Given the description of an element on the screen output the (x, y) to click on. 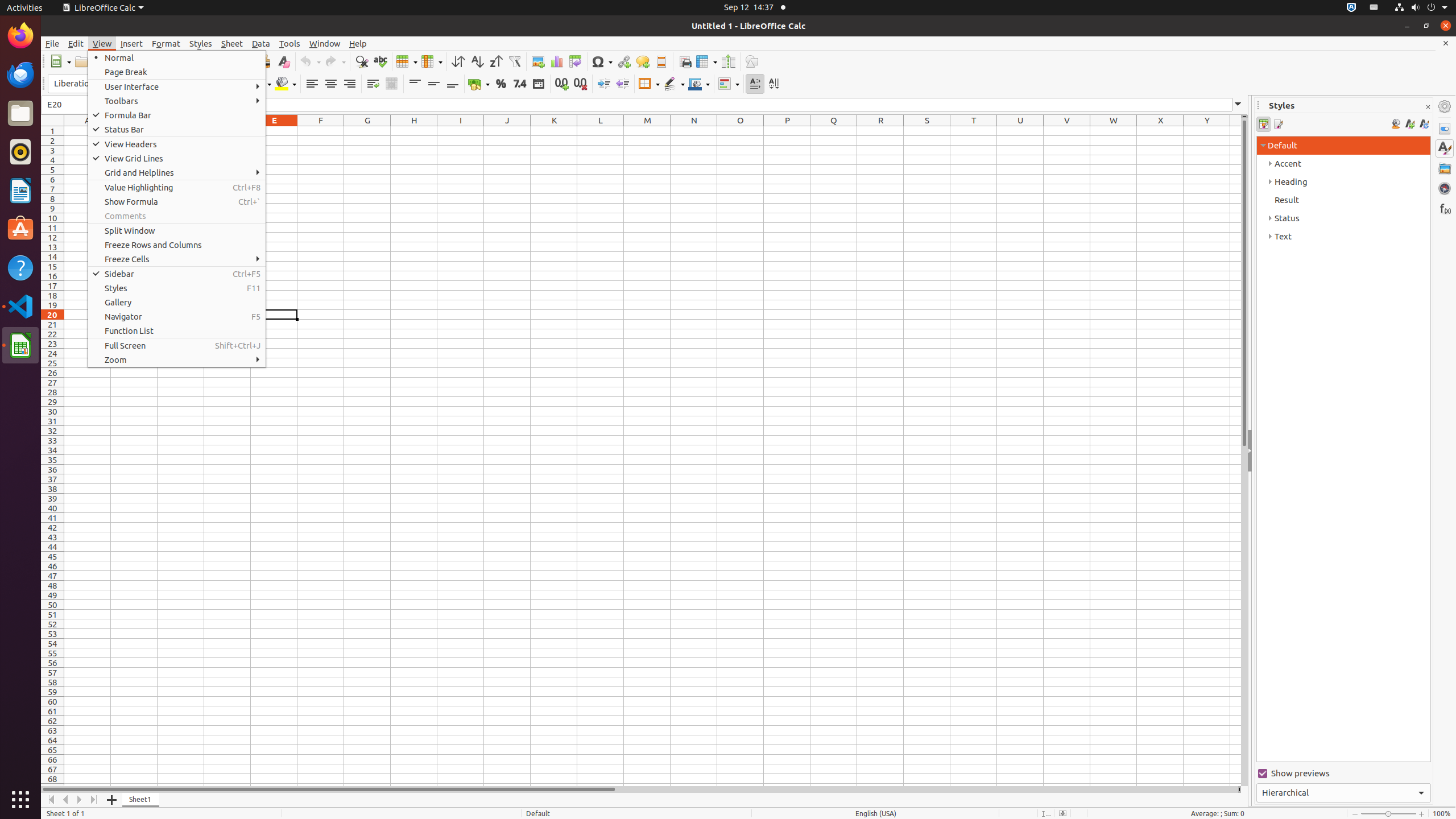
Row Element type: push-button (406, 61)
Date Element type: push-button (537, 83)
L1 Element type: table-cell (600, 130)
Align Bottom Element type: push-button (452, 83)
R1 Element type: table-cell (880, 130)
